Given the description of an element on the screen output the (x, y) to click on. 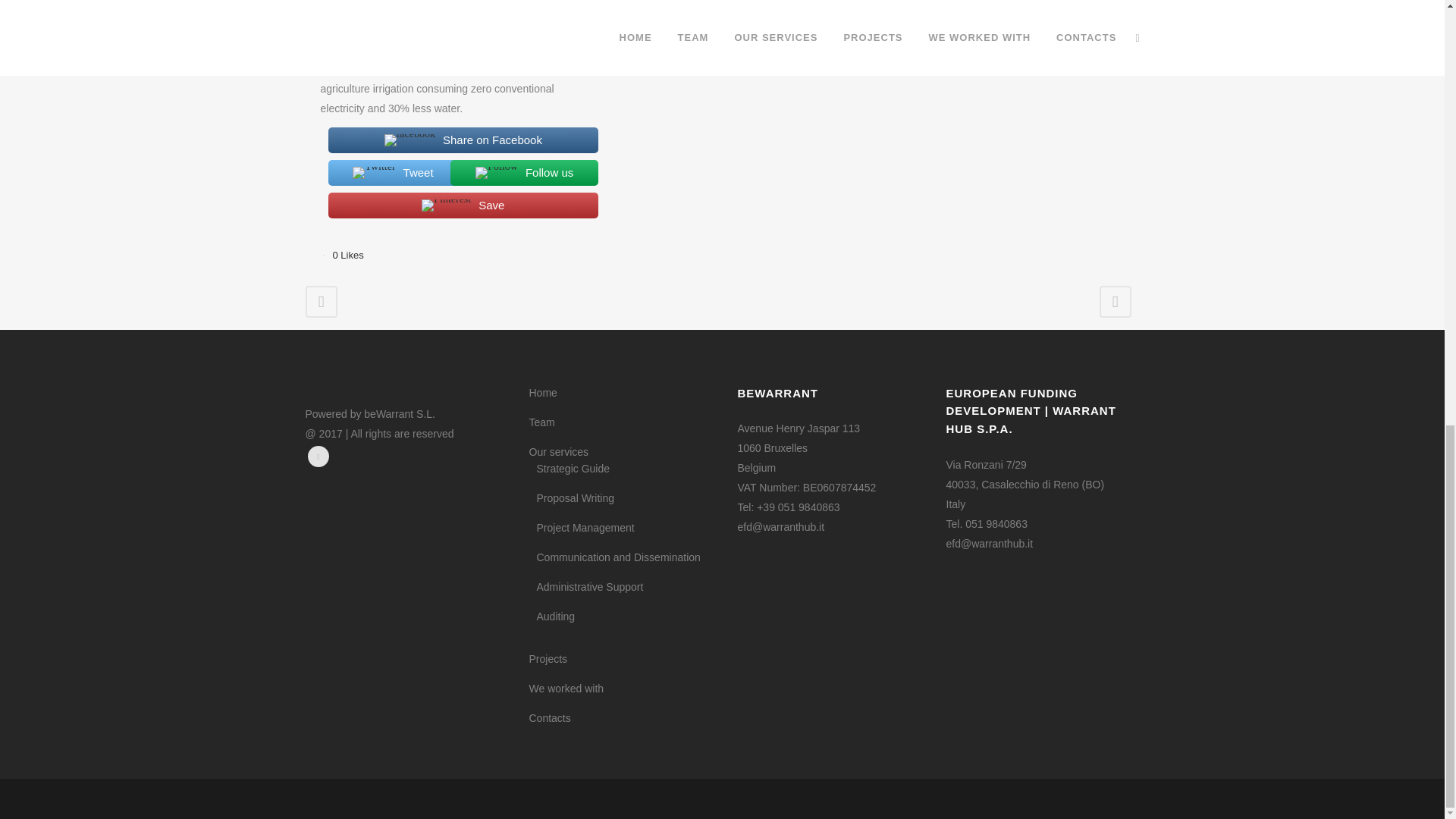
Team (621, 422)
Like this (346, 255)
Save (455, 205)
0 Likes (346, 255)
Tweet (384, 172)
Home (621, 392)
Follow us (516, 172)
Our services (621, 451)
Share on Facebook (455, 140)
